Given the description of an element on the screen output the (x, y) to click on. 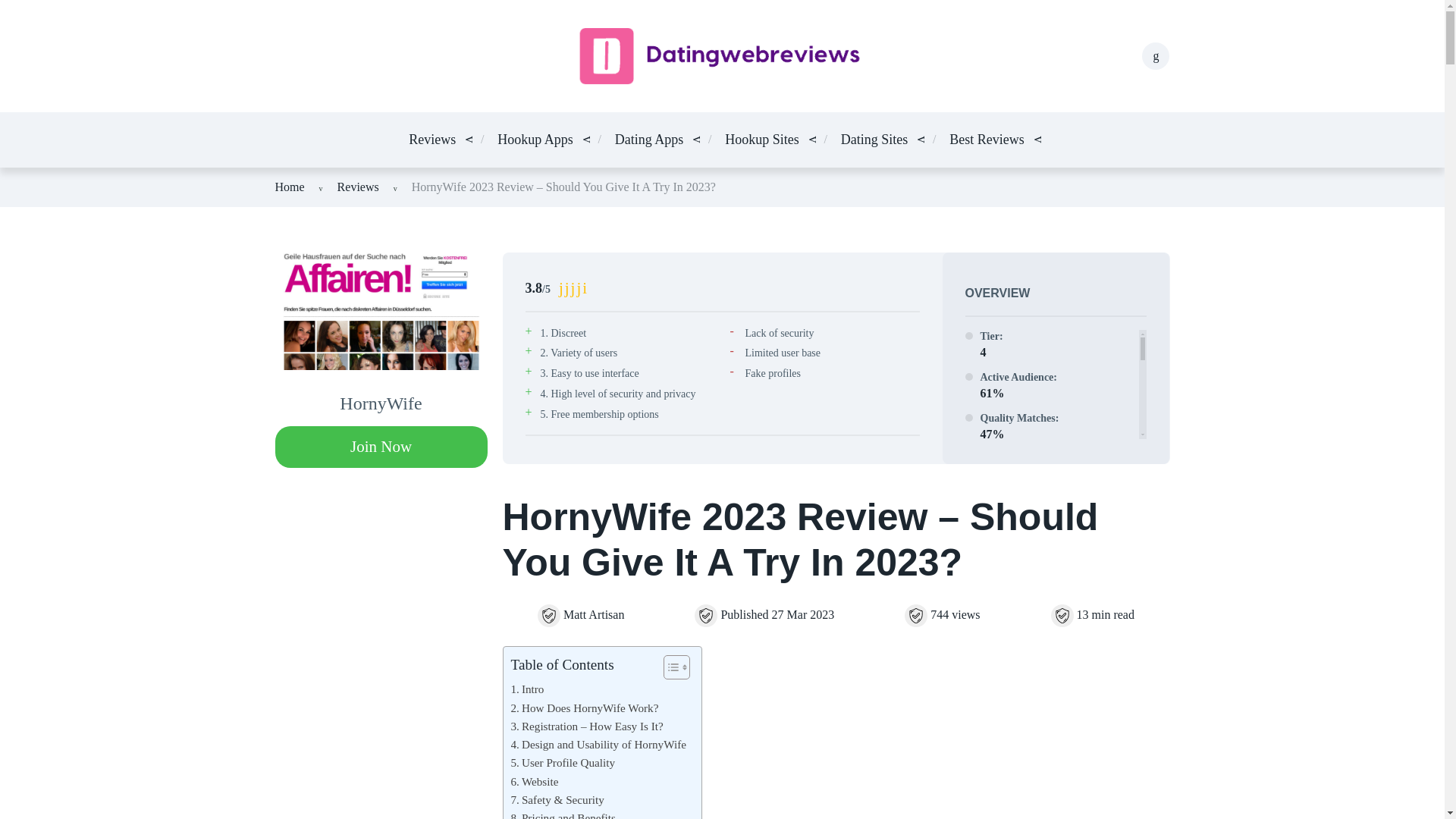
Intro (527, 689)
Pricing and Benefits (563, 814)
Reviews (432, 139)
Website (535, 782)
How Does HornyWife Work? (585, 708)
Reviews (357, 186)
Home (289, 186)
User Profile Quality (563, 762)
Design and Usability of HornyWife (598, 744)
